Given the description of an element on the screen output the (x, y) to click on. 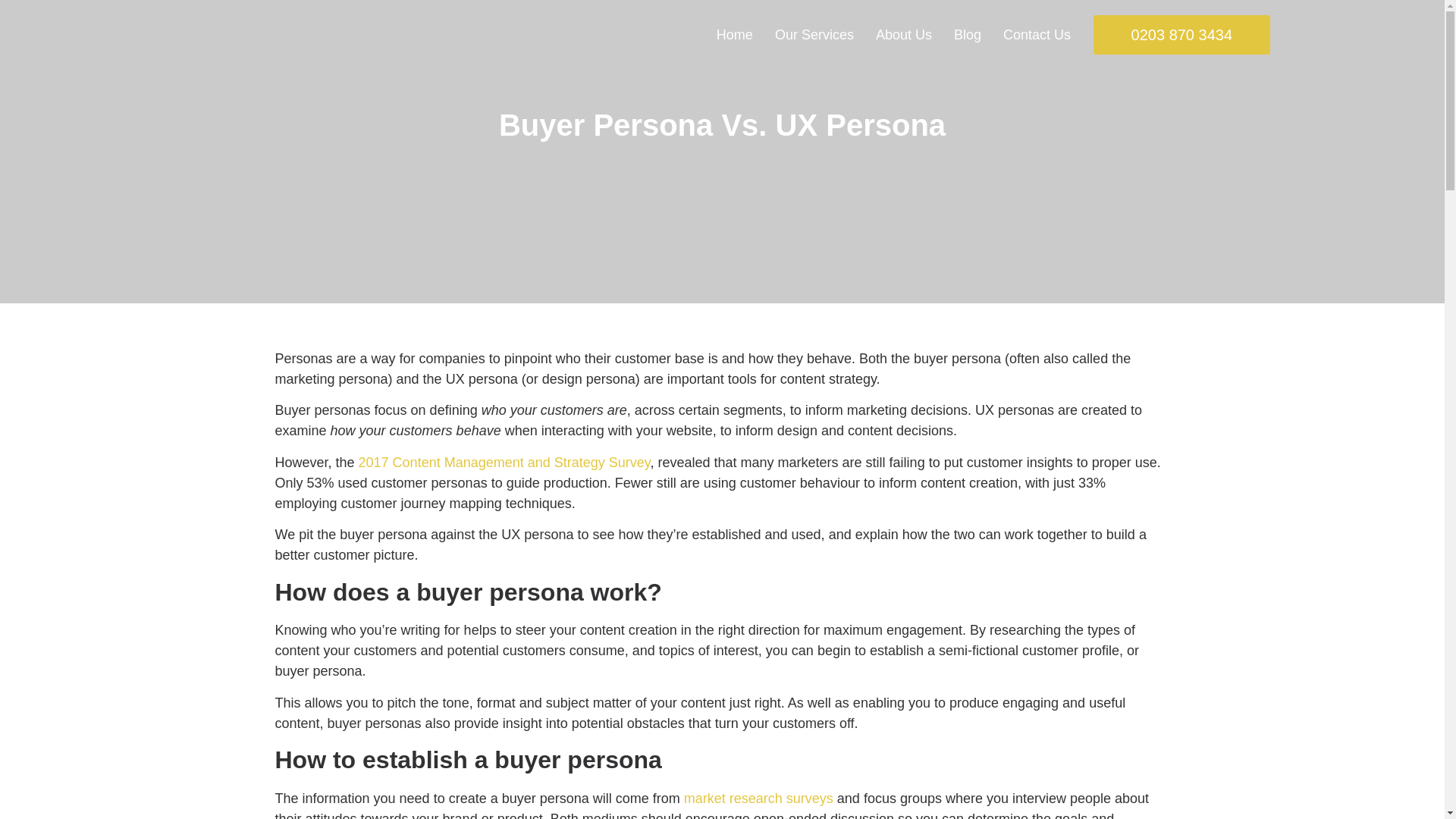
0203 870 3434 (1181, 34)
Home (734, 35)
market research surveys (758, 798)
Our Services (813, 35)
2017 Content Management and Strategy Survey (504, 462)
About Us (903, 35)
Blog (967, 35)
Contact Us (1036, 35)
